Given the description of an element on the screen output the (x, y) to click on. 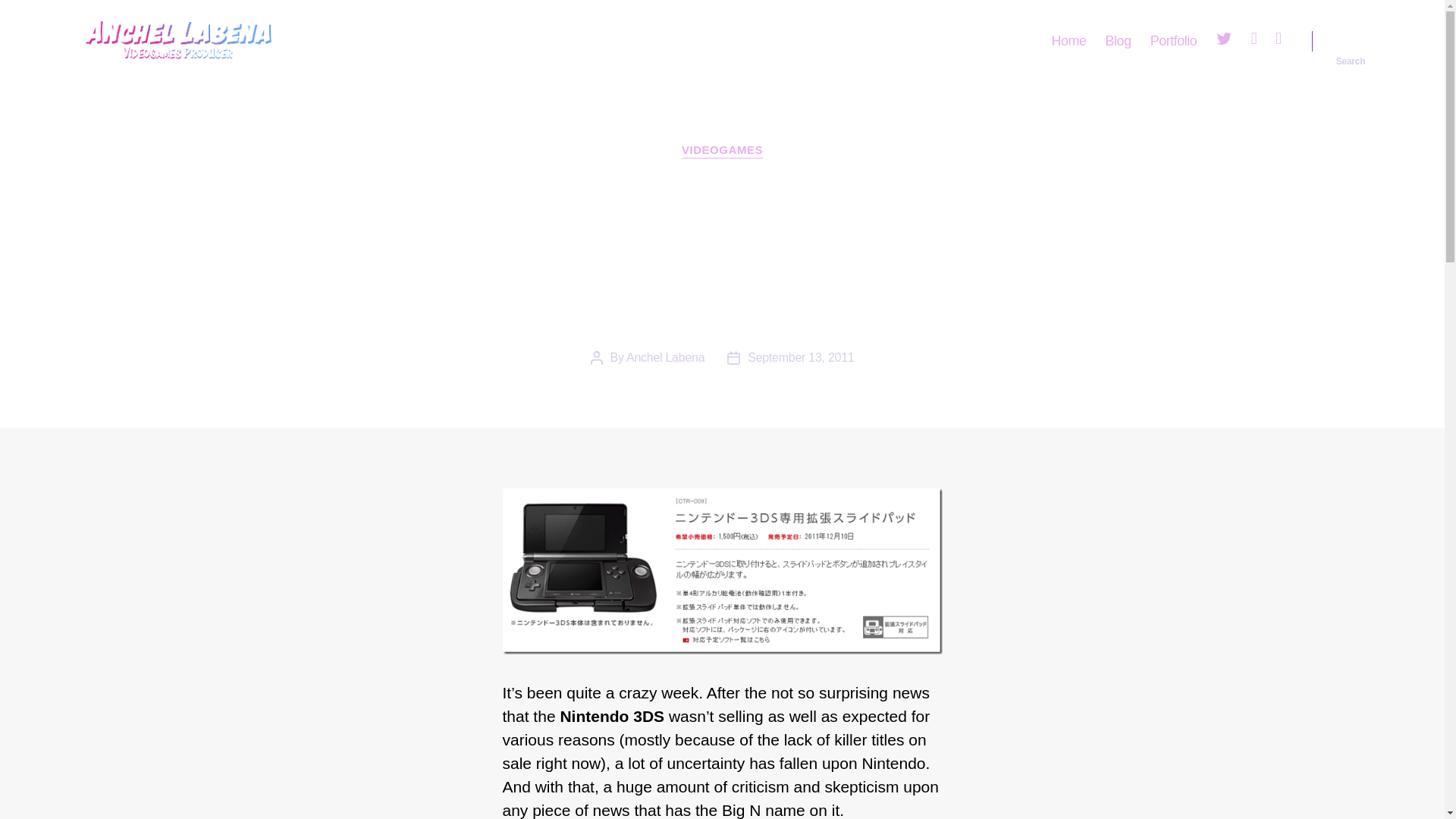
Home (1068, 41)
Twitter (1223, 41)
Portfolio (1173, 41)
image (722, 571)
Anchel Labena (665, 357)
VIDEOGAMES (721, 150)
Blog (1118, 41)
Search (1350, 40)
September 13, 2011 (800, 357)
